Given the description of an element on the screen output the (x, y) to click on. 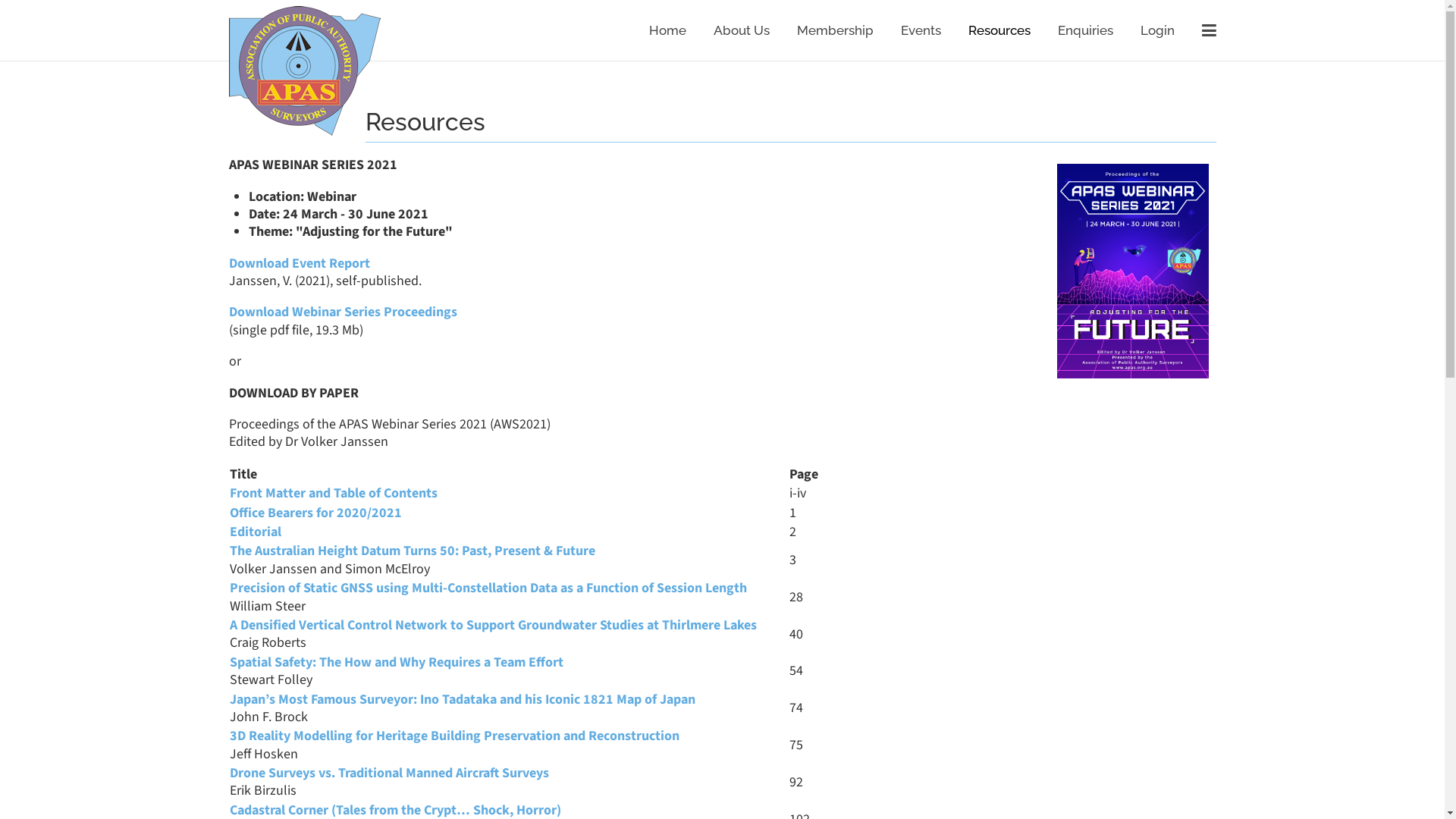
APAS Element type: hover (304, 70)
Editorial Element type: text (254, 531)
Office Bearers for 2020/2021 Element type: text (315, 512)
About Us Element type: text (740, 30)
Spatial Safety: The How and Why Requires a Team Effort Element type: text (395, 661)
The Australian Height Datum Turns 50: Past, Present & Future Element type: text (411, 550)
Front Matter and Table of Contents Element type: text (332, 492)
Download Event Report Element type: text (299, 263)
Login Element type: text (1157, 30)
Drone Surveys vs. Traditional Manned Aircraft Surveys Element type: text (388, 772)
Events Element type: text (920, 30)
Enquiries Element type: text (1084, 30)
Home Element type: text (667, 30)
Resources Element type: text (998, 30)
Membership Element type: text (834, 30)
Download Webinar Series Proceedings Element type: text (343, 311)
